Given the description of an element on the screen output the (x, y) to click on. 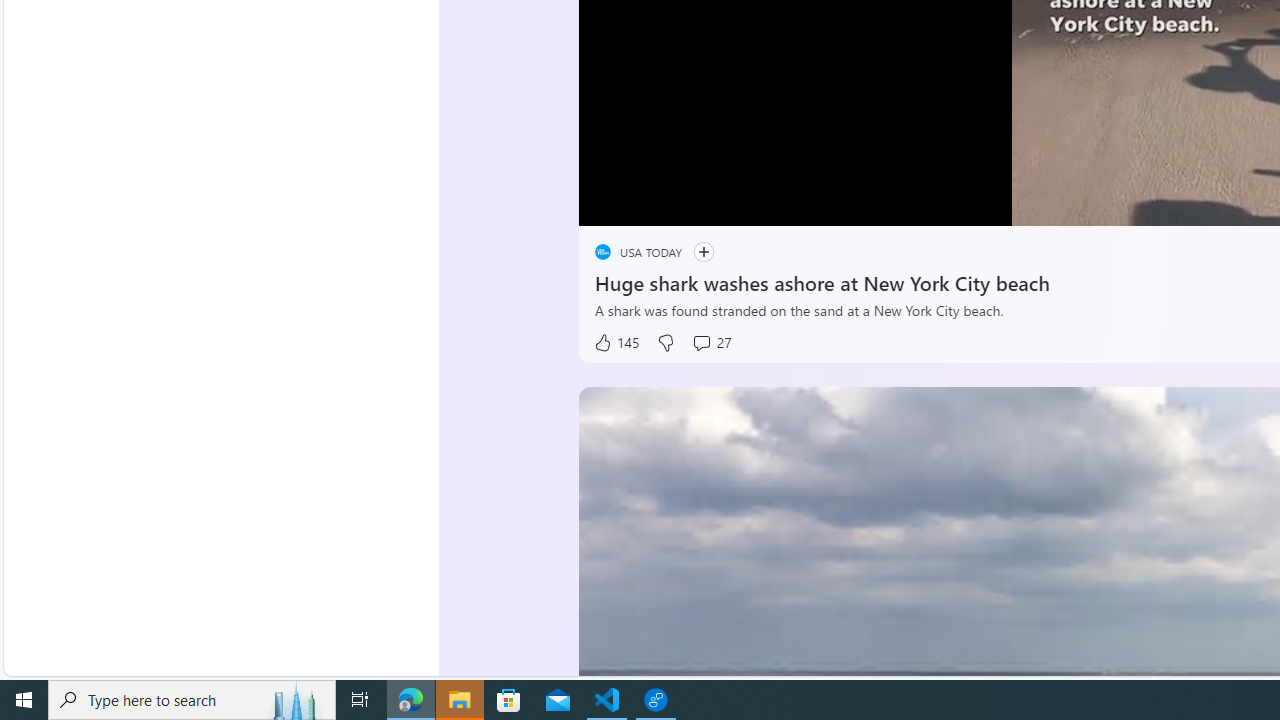
Follow (703, 251)
Seek Forward (688, 203)
Seek Back (648, 203)
placeholder USA TODAY (637, 252)
145 Like (615, 343)
placeholder (601, 252)
Pause (607, 203)
View comments 27 Comment (711, 343)
